Given the description of an element on the screen output the (x, y) to click on. 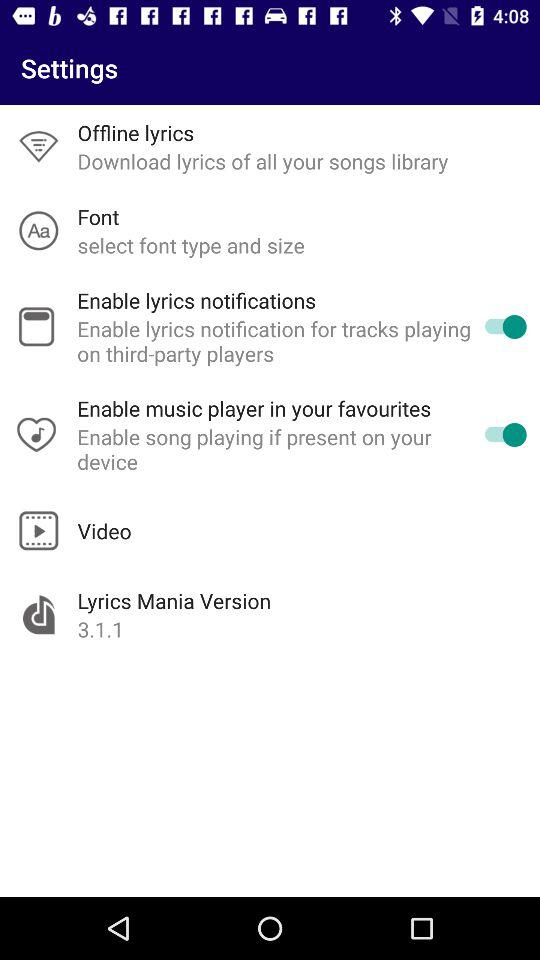
flip to the 3.1.1 (100, 629)
